Given the description of an element on the screen output the (x, y) to click on. 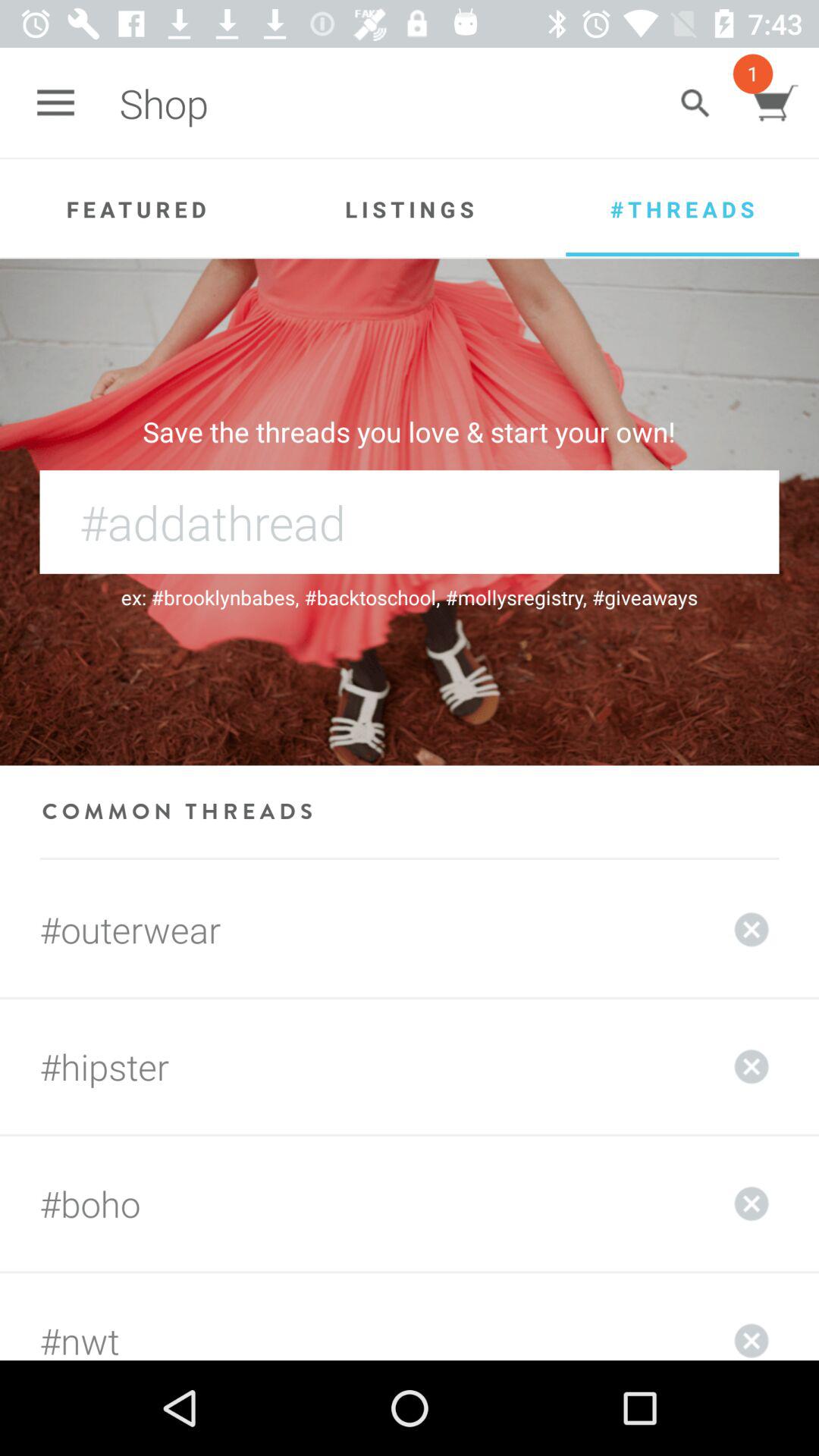
close option (751, 1066)
